Given the description of an element on the screen output the (x, y) to click on. 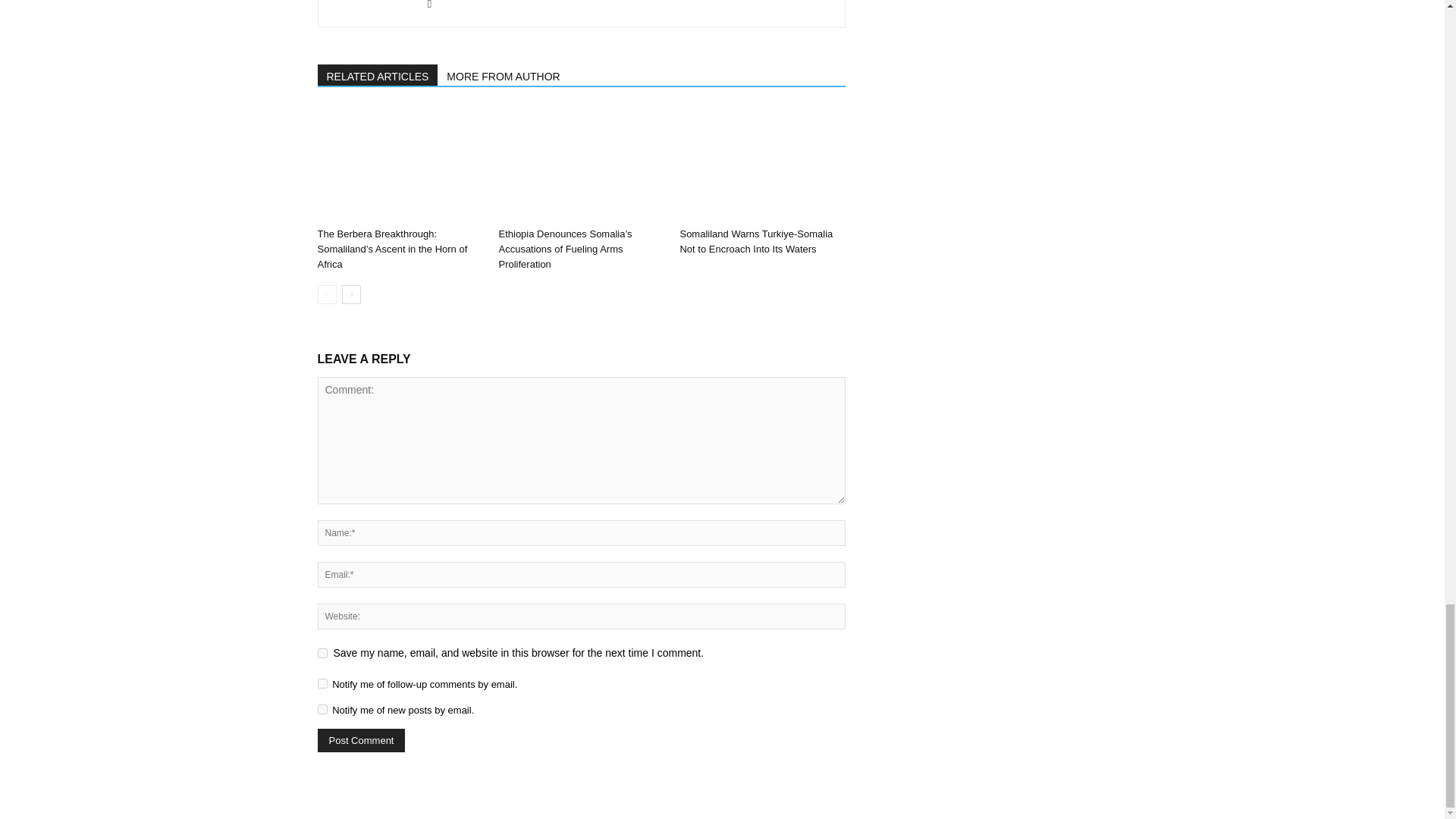
subscribe (321, 709)
yes (321, 653)
Post Comment (360, 740)
subscribe (321, 683)
